Given the description of an element on the screen output the (x, y) to click on. 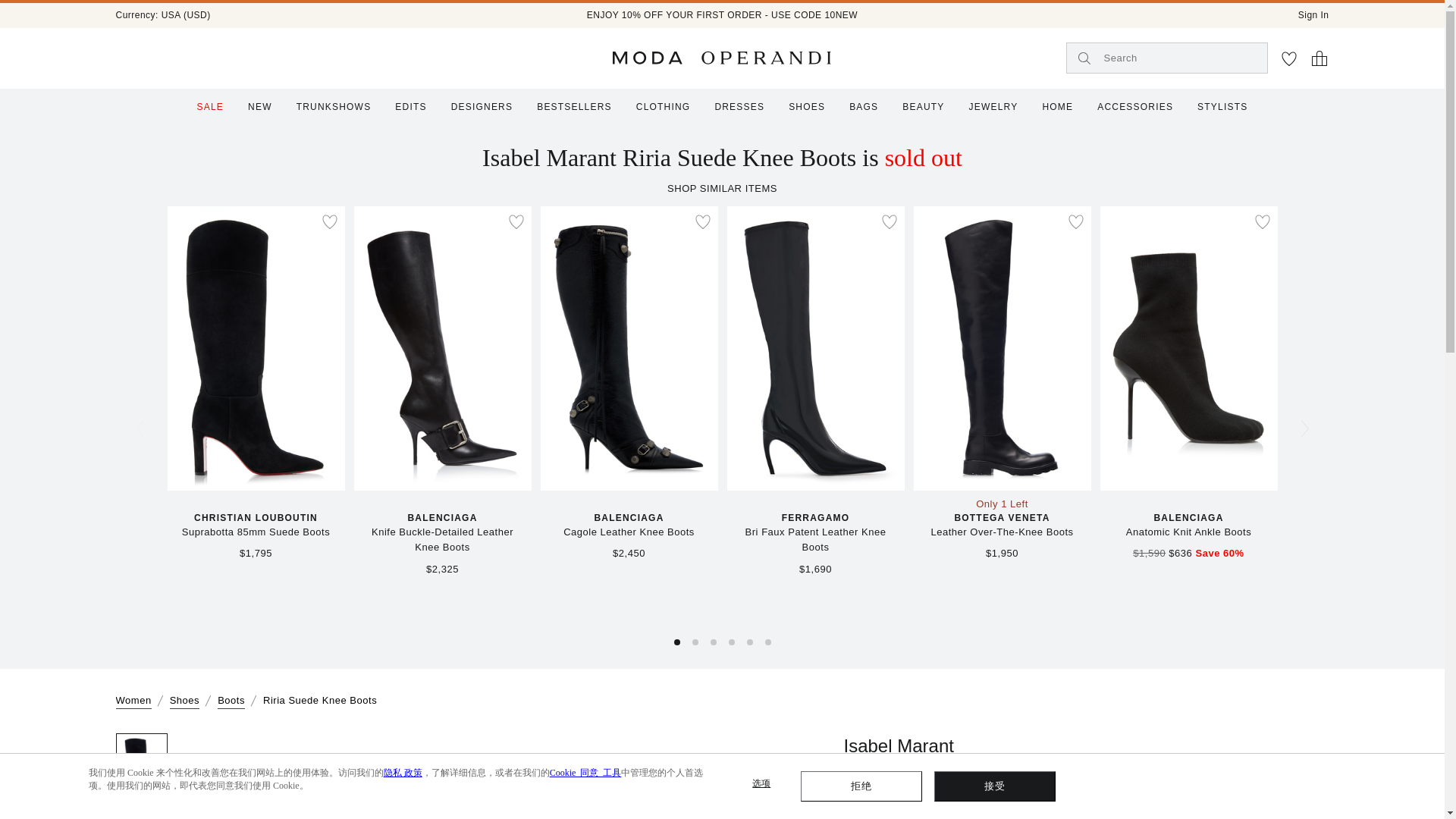
Suprabotta 85mm Suede Boots (255, 532)
Sign In (1313, 15)
Ferragamo (815, 517)
Cagole Leather Knee Boots (628, 532)
Balenciaga (1188, 517)
Christian Louboutin (255, 517)
Bottega Veneta (1001, 517)
Knife Buckle-Detailed Leather Knee Boots (441, 540)
Balenciaga (441, 517)
Bri Faux Patent Leather Knee Boots (815, 540)
Anatomic Knit Ankle Boots (1188, 532)
Balenciaga (628, 517)
SALE (209, 106)
Leather Over-The-Knee Boots (1001, 532)
